Given the description of an element on the screen output the (x, y) to click on. 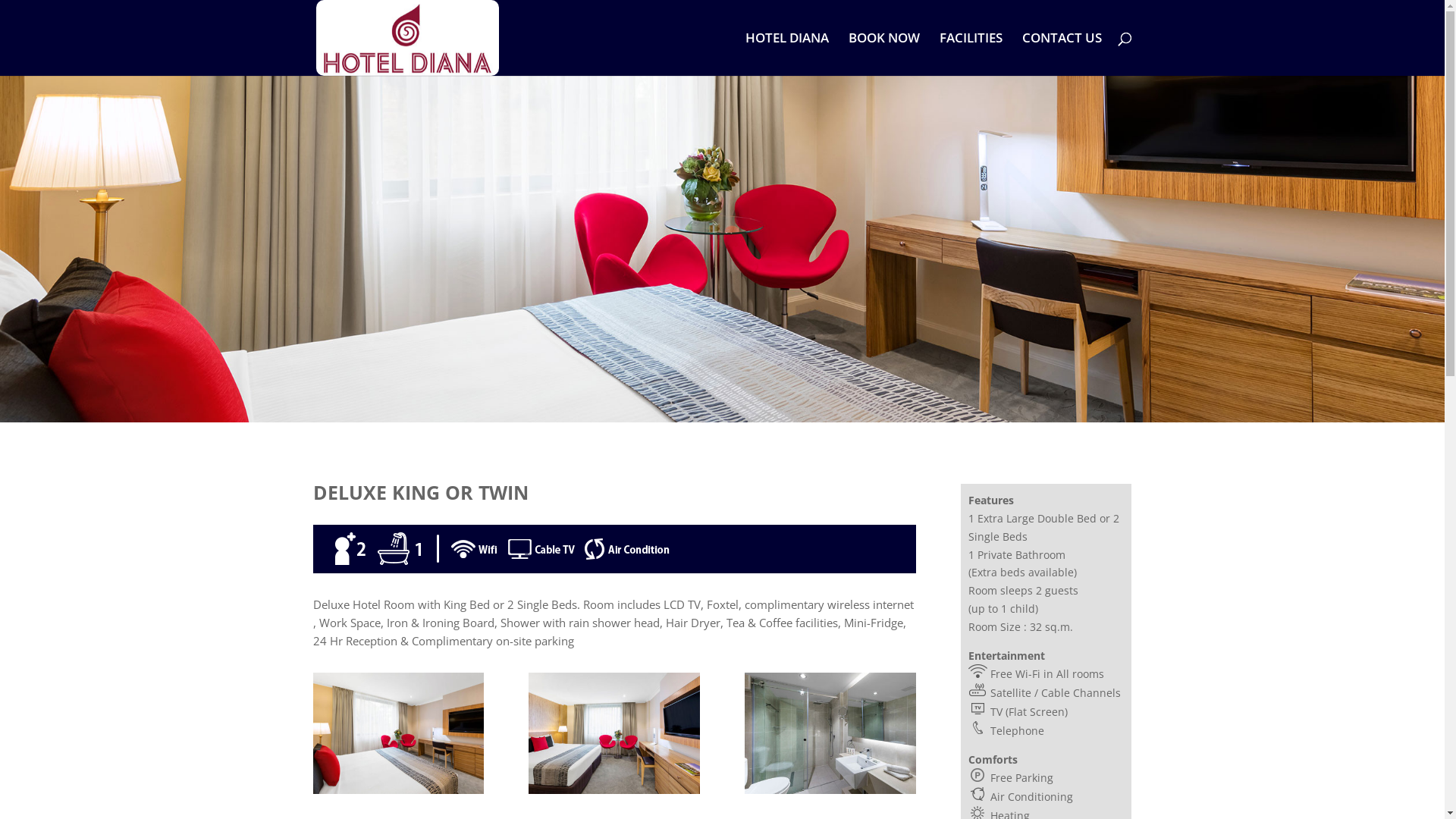
CONTACT US Element type: text (1061, 53)
Bathroom-1 Element type: hover (829, 789)
FACILITIES Element type: text (969, 53)
BOOK NOW Element type: text (883, 53)
queen-king0 Element type: hover (397, 789)
queen-king1 Element type: hover (613, 789)
HOTEL DIANA Element type: text (786, 53)
